Given the description of an element on the screen output the (x, y) to click on. 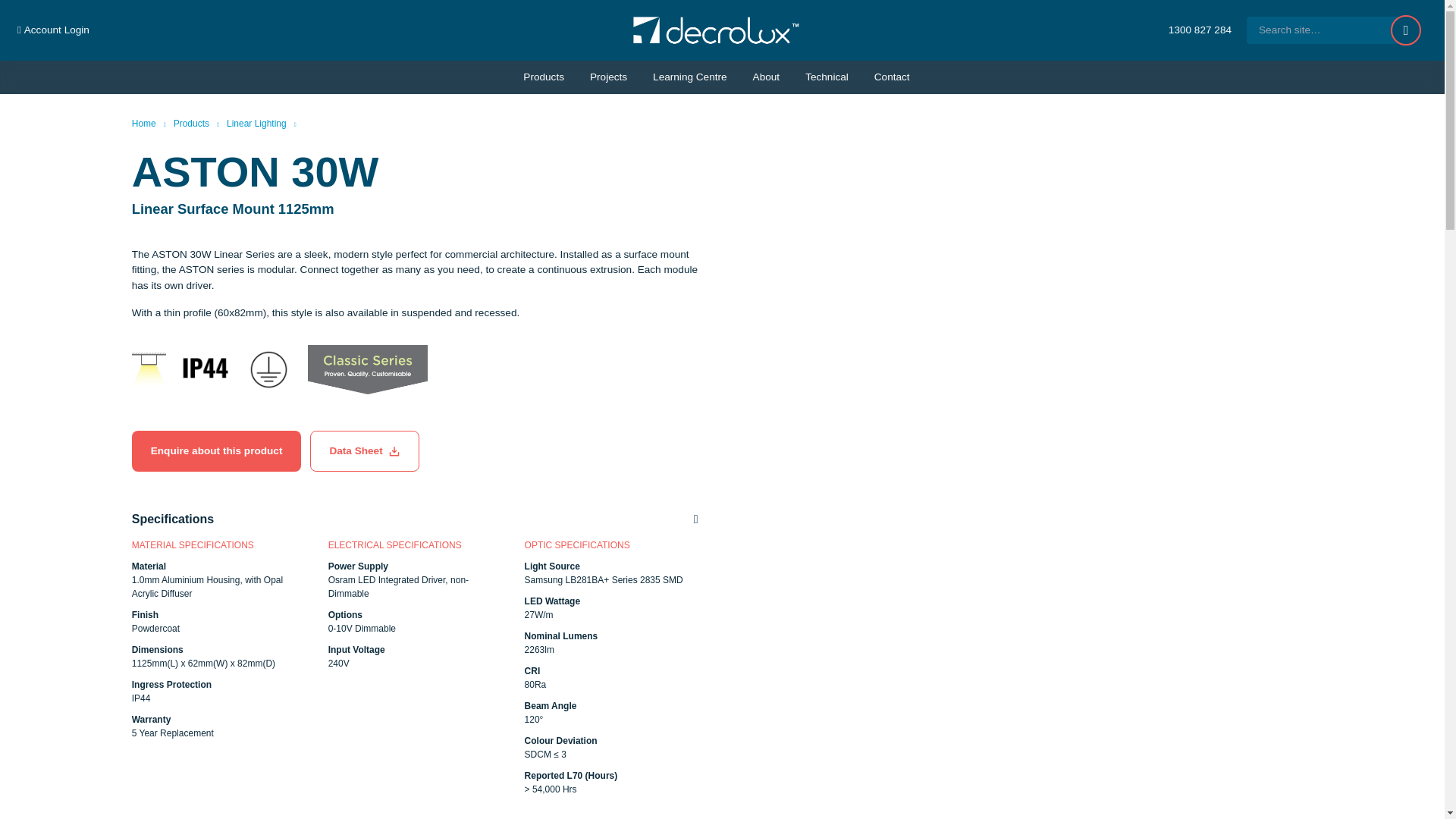
Product Data Sheet Download (364, 450)
Projects (608, 77)
Products (543, 77)
Account Login (53, 29)
Technical (826, 77)
Phone call (1200, 29)
1300 827 284 (1200, 29)
About (766, 77)
Learning Centre (689, 77)
